Given the description of an element on the screen output the (x, y) to click on. 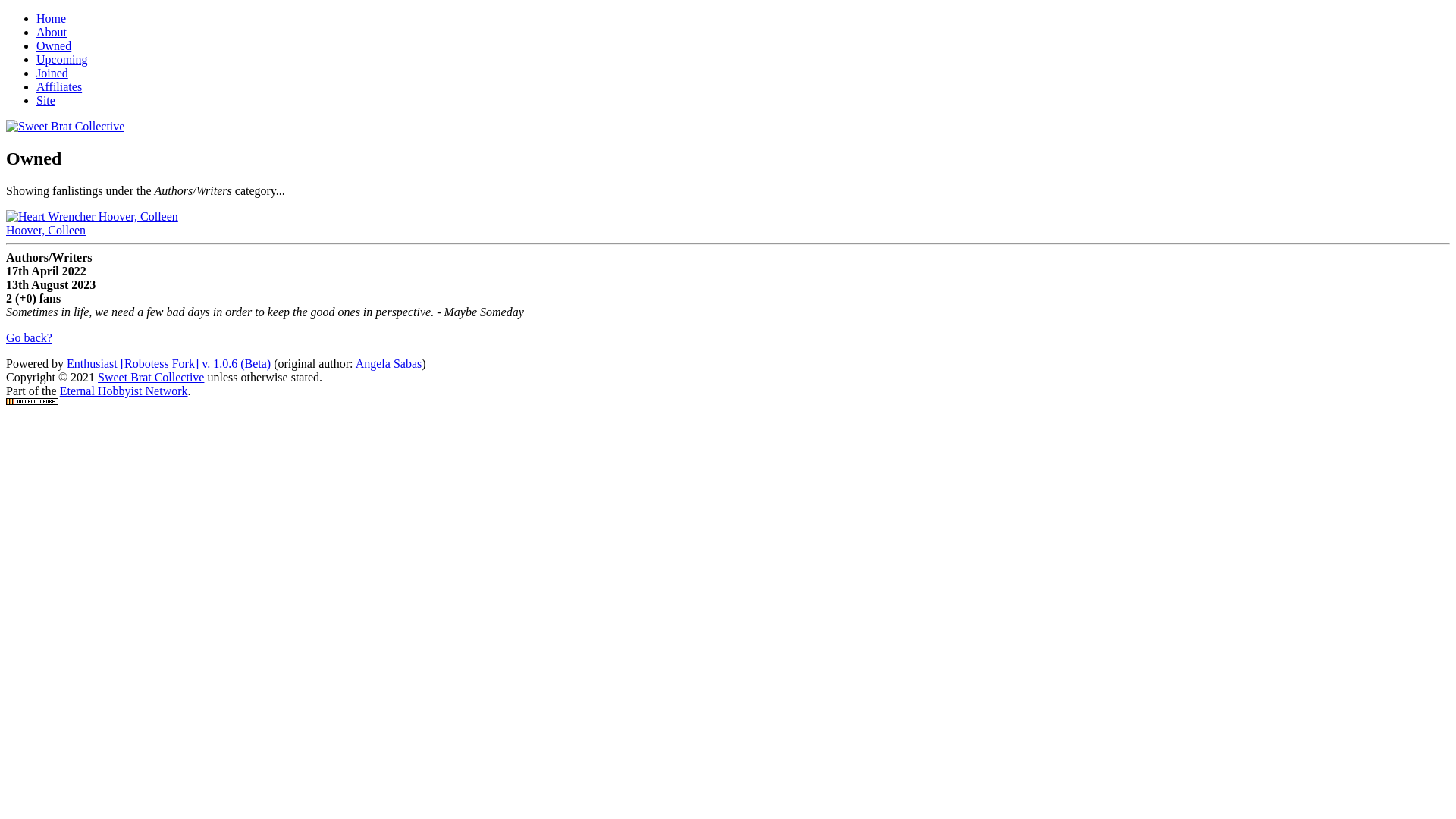
Hoover, Colleen Element type: text (45, 229)
Upcoming Element type: text (61, 59)
Joined Element type: text (52, 72)
Enthusiast [Robotess Fork] v. 1.0.6 (Beta) Element type: text (168, 363)
Home Element type: text (50, 18)
Site Element type: text (45, 100)
Eternal Hobbyist Network Element type: text (123, 390)
Affiliates Element type: text (58, 86)
Angela Sabas Element type: text (388, 363)
Sweet Brat Collective Element type: text (150, 376)
Owned Element type: text (53, 45)
About Element type: text (51, 31)
Go back? Element type: text (29, 337)
